Given the description of an element on the screen output the (x, y) to click on. 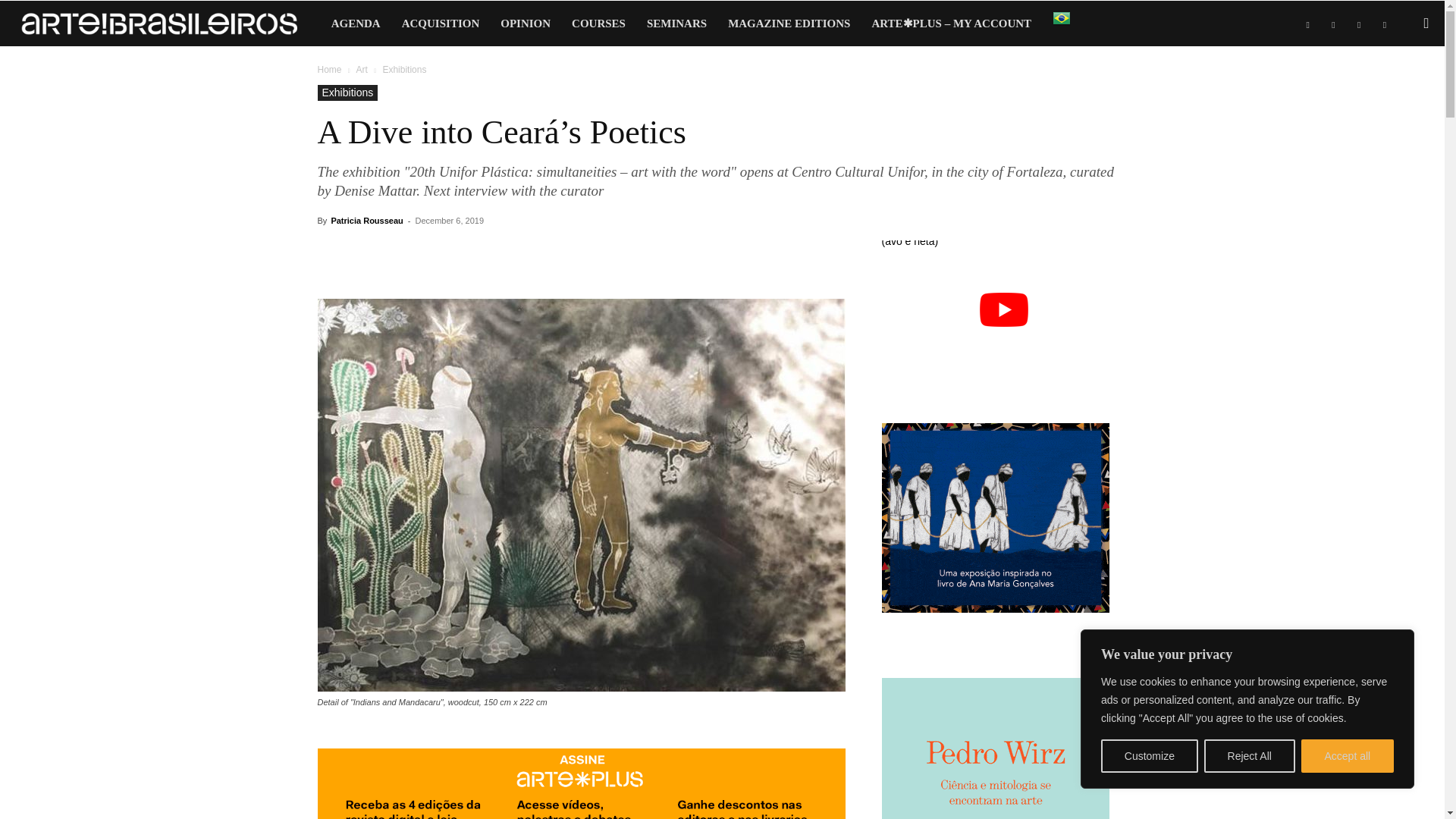
OPINION (524, 22)
Reject All (1249, 756)
Accept all (1347, 756)
MAGAZINE EDITIONS (788, 22)
ACQUISITION (440, 22)
AGENDA (355, 22)
See all articles in Art (360, 69)
Contemporary art portal (159, 28)
ARTE!Brasileiros (167, 28)
COURSES (598, 22)
